Given the description of an element on the screen output the (x, y) to click on. 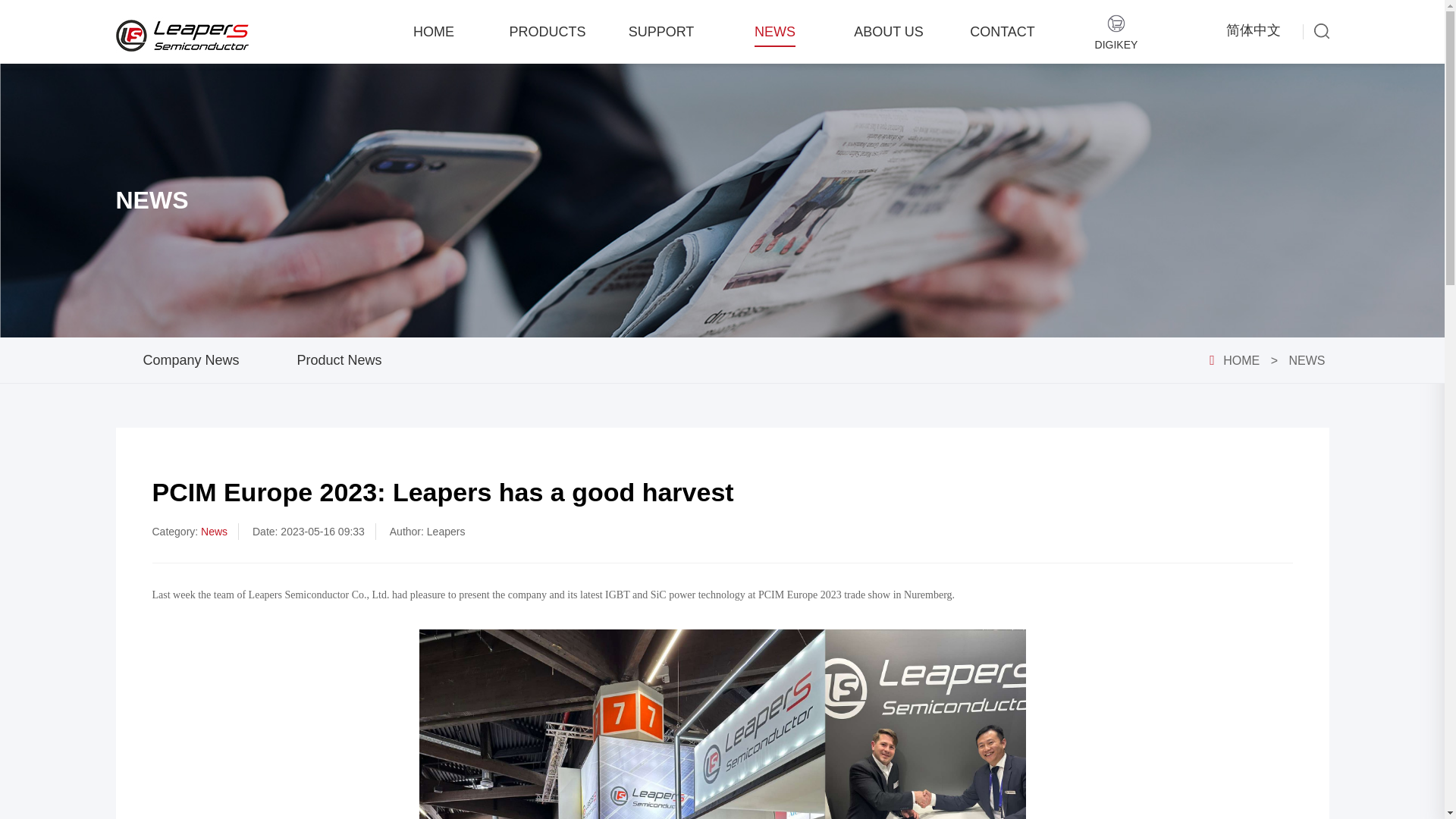
DIGIKEY (1116, 33)
CONTACT (1002, 32)
ABOUT US (888, 32)
SUPPORT (661, 32)
NEWS (1305, 359)
Submit (735, 449)
HOME (433, 32)
Product News (339, 360)
HOME (1241, 359)
PRODUCTS (546, 32)
